Given the description of an element on the screen output the (x, y) to click on. 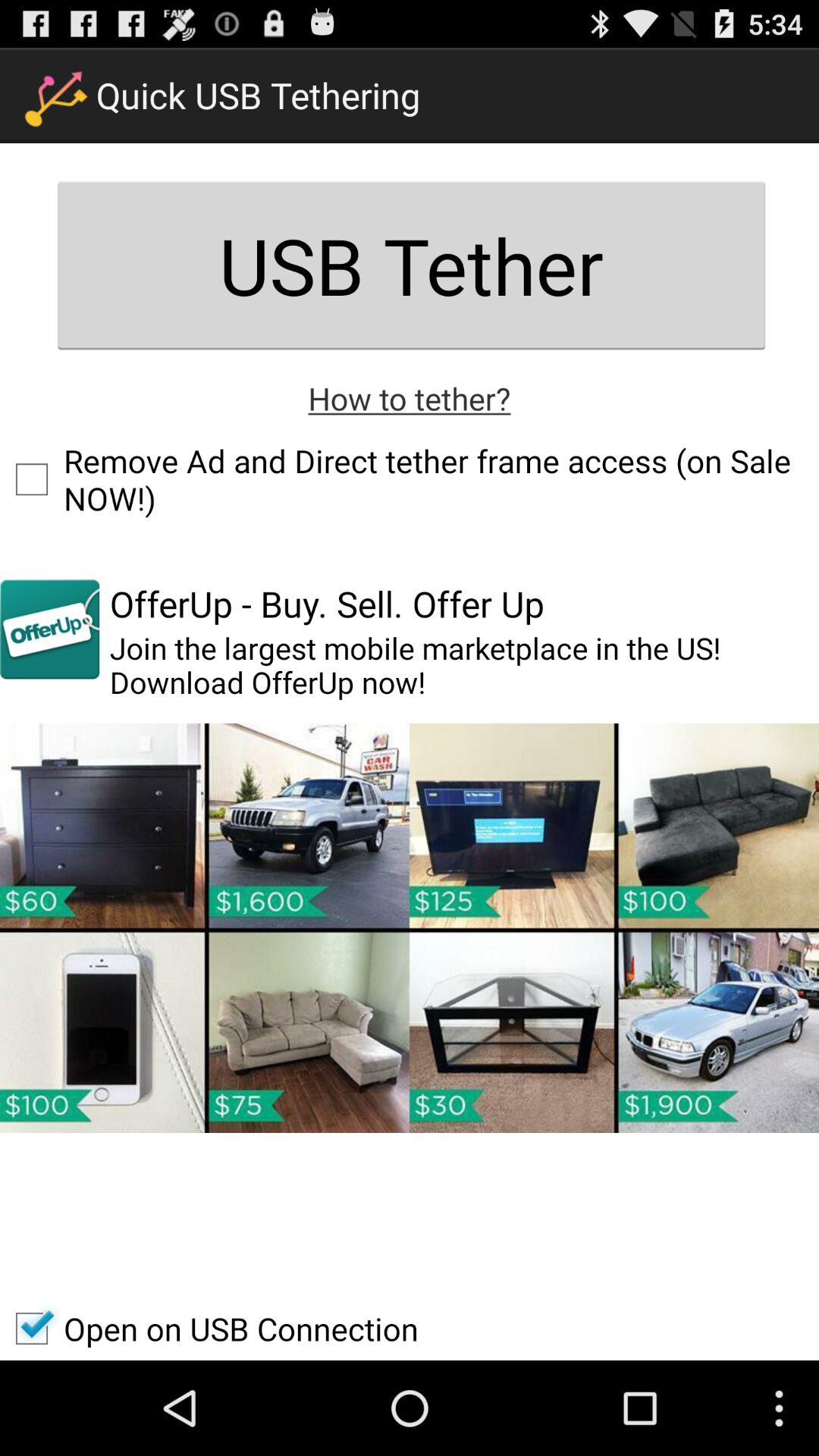
press the app below how to tether? icon (409, 479)
